Given the description of an element on the screen output the (x, y) to click on. 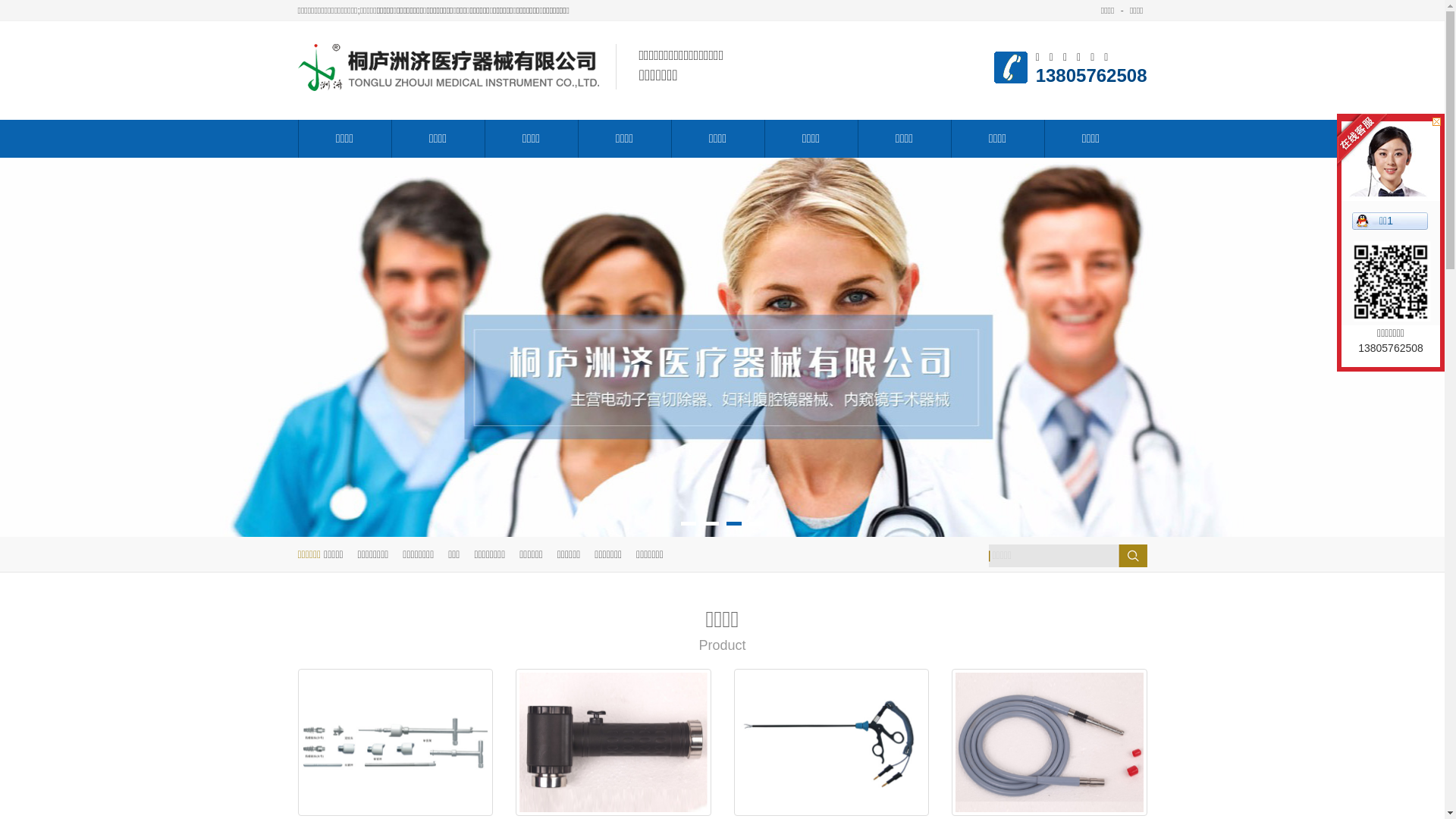
  Element type: text (1124, 555)
